Given the description of an element on the screen output the (x, y) to click on. 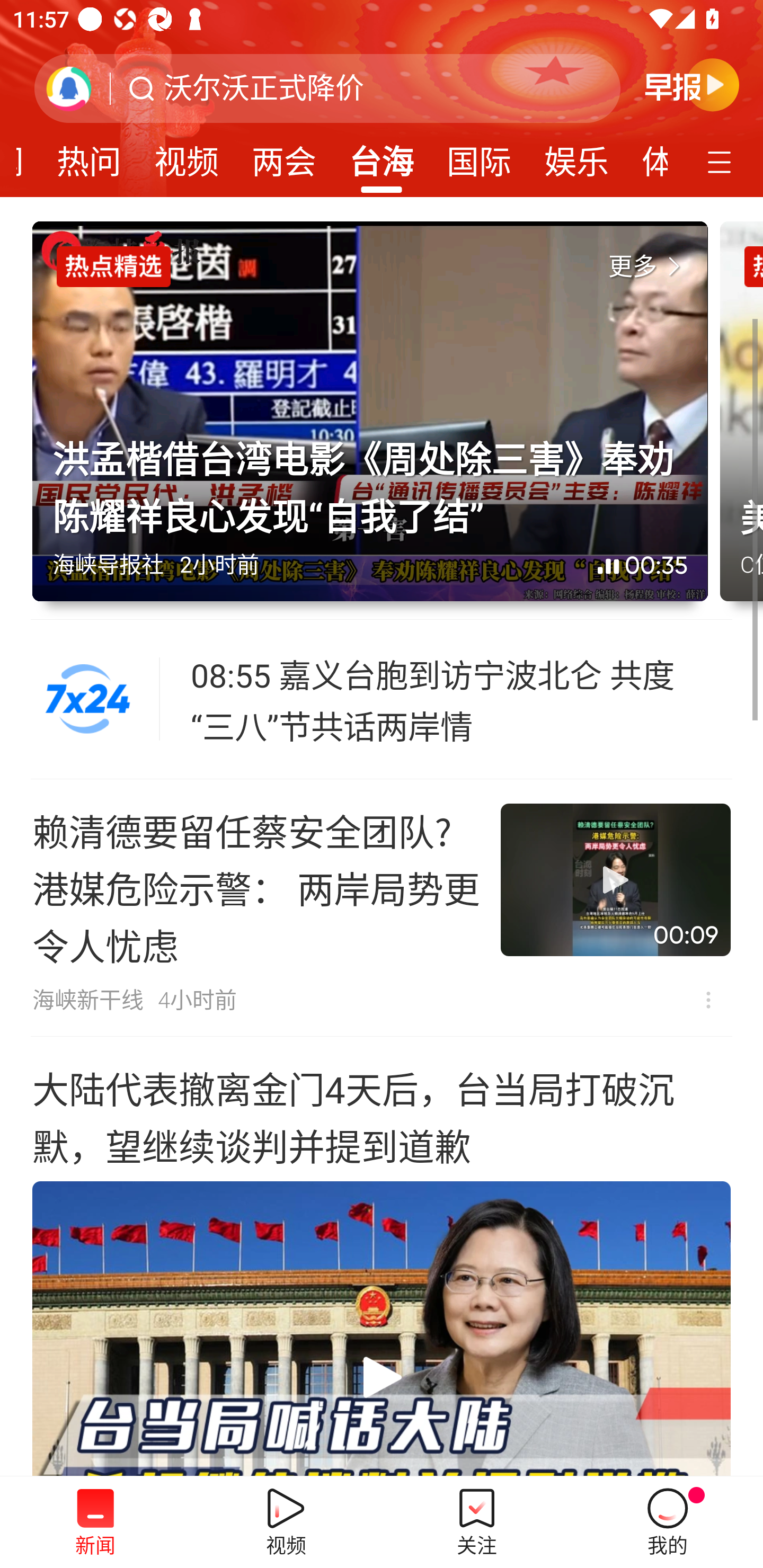
早晚报 (691, 84)
刷新 (68, 88)
沃尔沃正式降价 (263, 88)
热问 (89, 155)
视频 (186, 155)
两会 (283, 155)
台海 (381, 155)
国际 (478, 155)
娱乐 (575, 155)
 定制频道 (721, 160)
更多  (648, 267)
08:55 嘉义台胞到访宁波北仑 共度“三八”节共话两岸情 (461, 699)
 不感兴趣 (707, 1000)
大陆代表撤离金门4天后，台当局打破沉默，望继续谈判并提到道歉 (381, 1256)
